Given the description of an element on the screen output the (x, y) to click on. 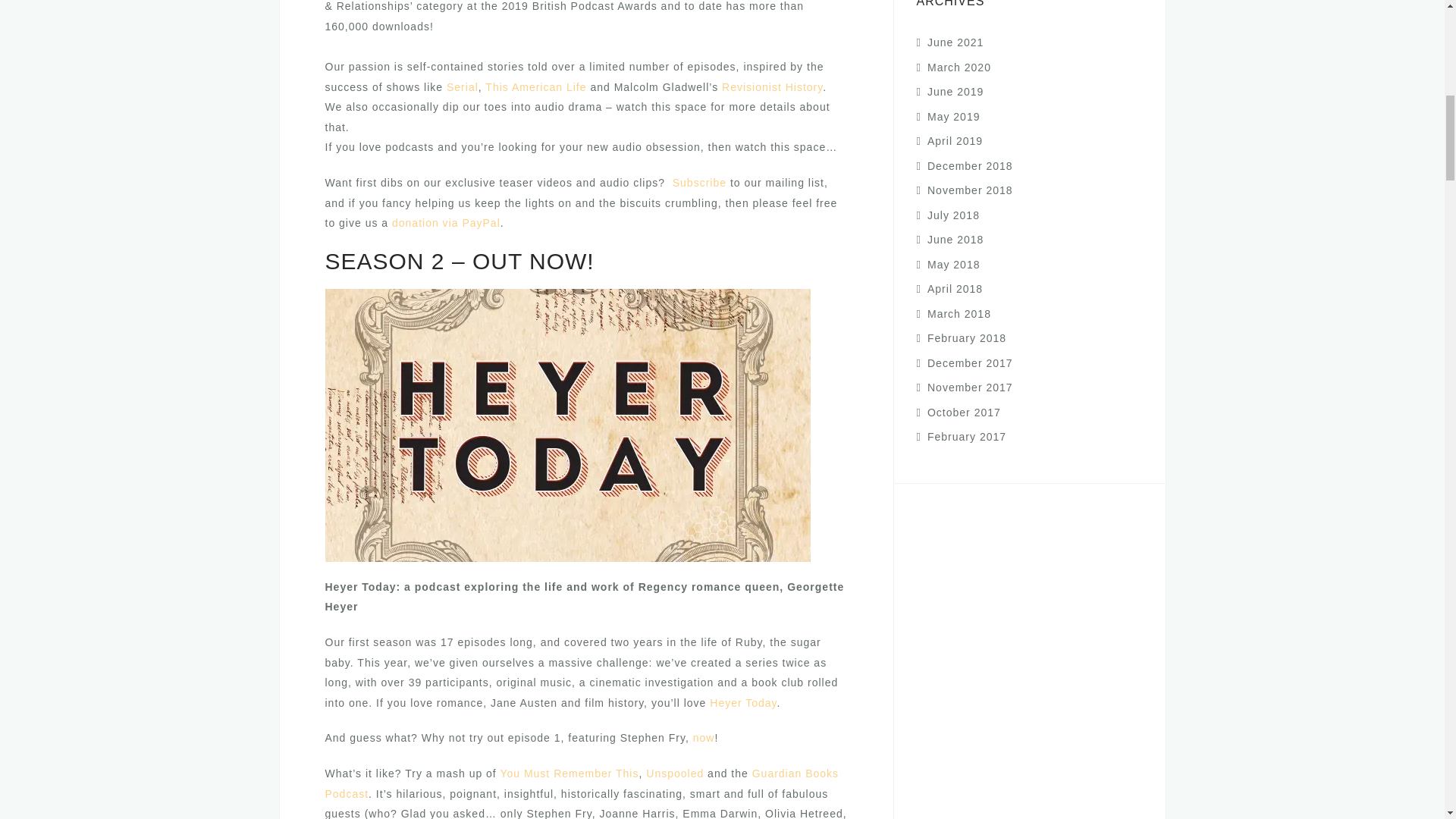
Unspooled (674, 773)
This American Life (535, 87)
Heyer Today (743, 702)
Serial (462, 87)
You Must Remember This (569, 773)
 now (701, 737)
Subscribe (699, 182)
Guardian Books Podcast (581, 783)
donation via PayPal (445, 223)
Revisionist History (772, 87)
